Given the description of an element on the screen output the (x, y) to click on. 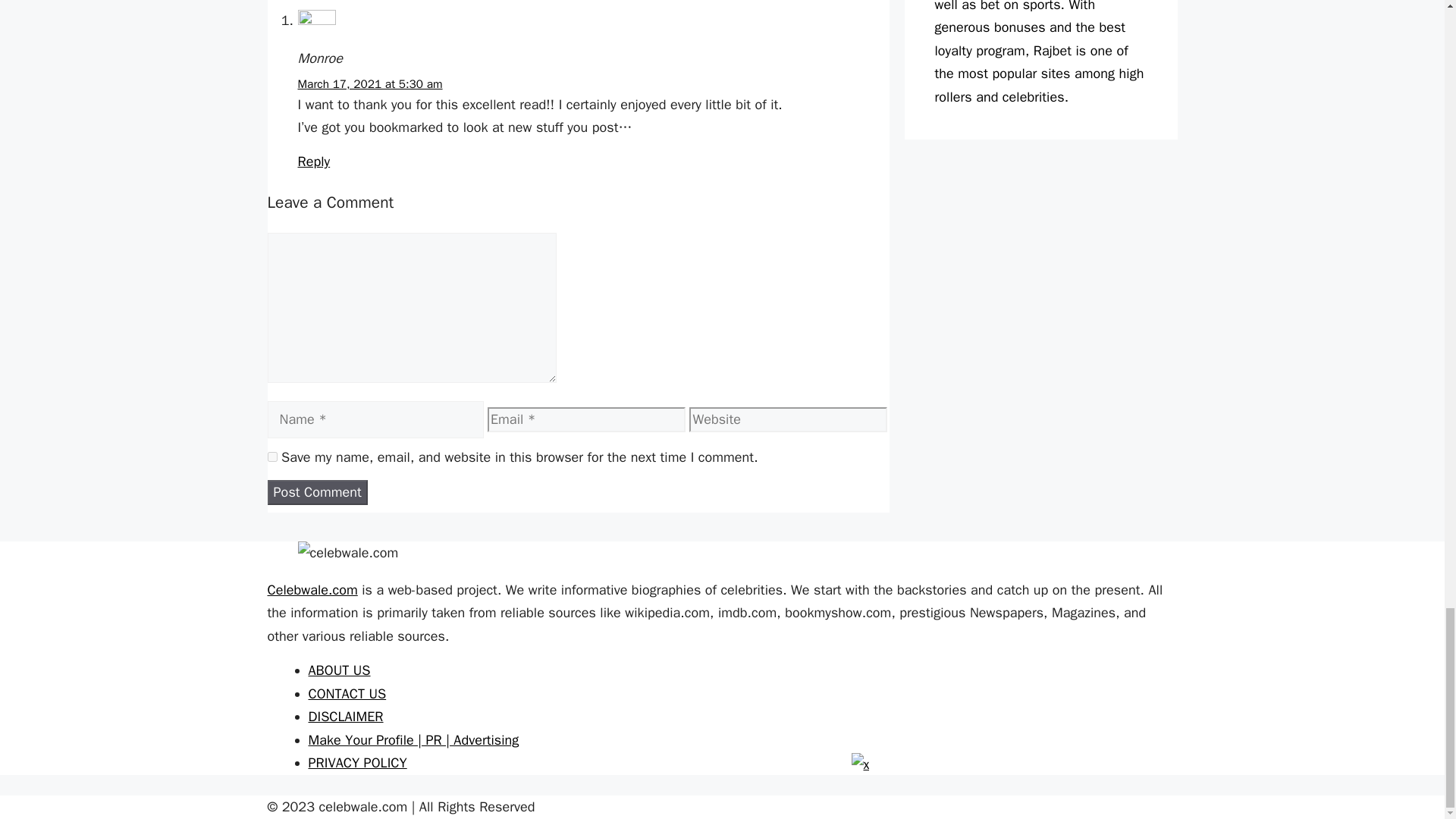
yes (271, 456)
March 17, 2021 at 5:30 am (369, 83)
Reply (313, 161)
Post Comment (316, 492)
Post Comment (316, 492)
